Given the description of an element on the screen output the (x, y) to click on. 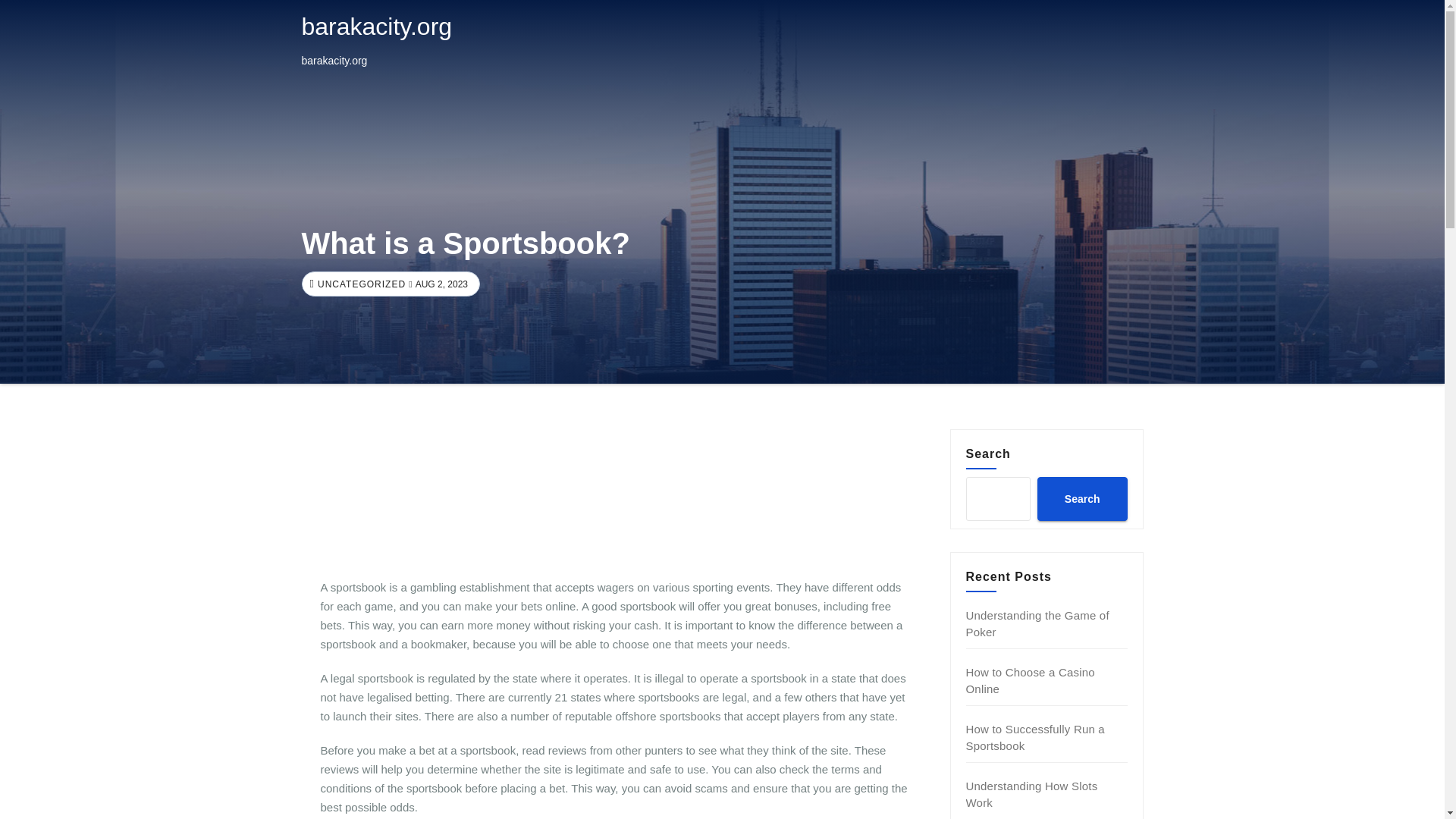
Search (1081, 498)
barakacity.org (376, 26)
How to Choose a Casino Online (1030, 680)
How to Successfully Run a Sportsbook (1035, 737)
Understanding the Game of Poker (1037, 623)
Understanding How Slots Work (1031, 794)
UNCATEGORIZED (360, 284)
